Given the description of an element on the screen output the (x, y) to click on. 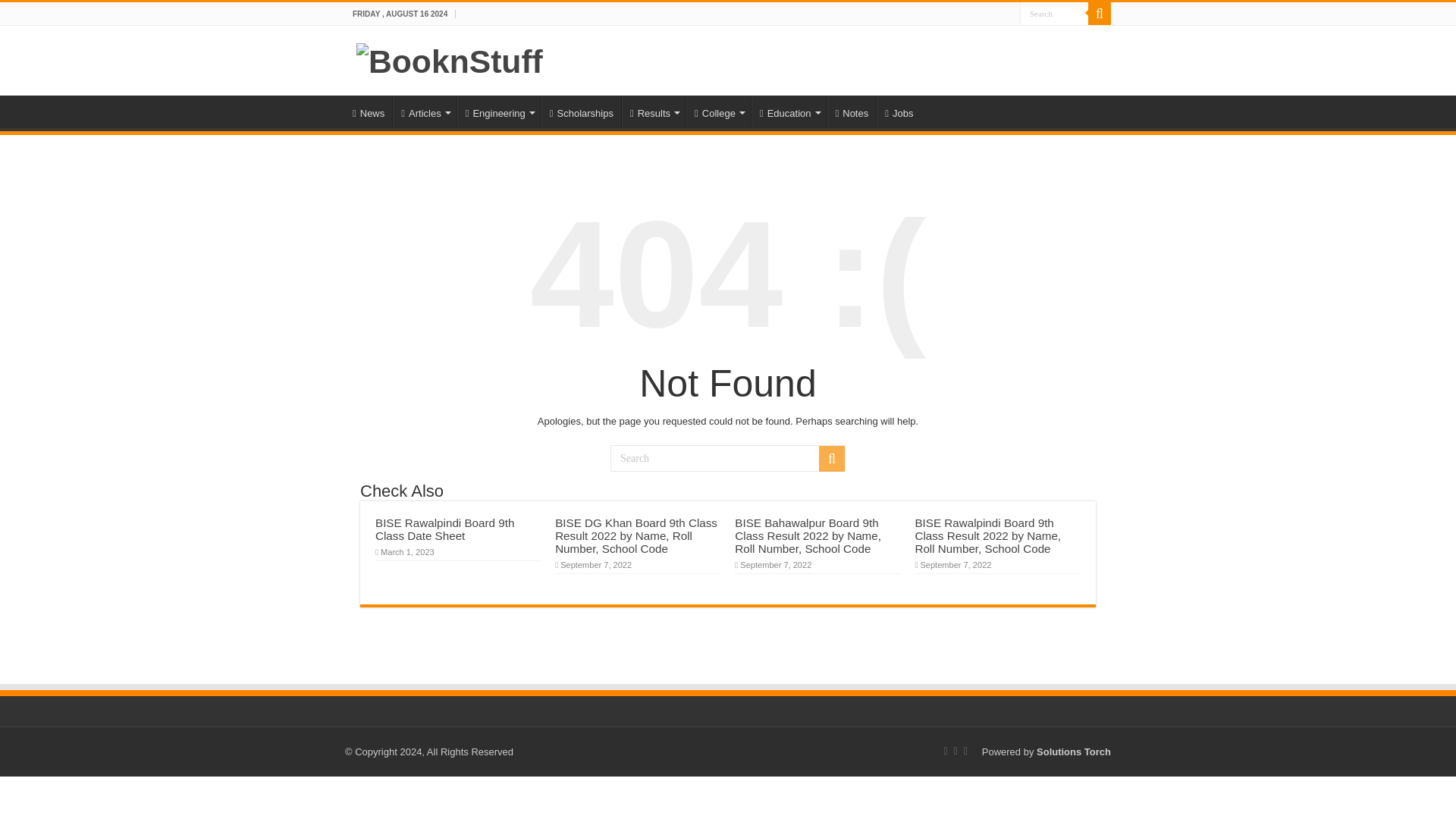
Education (789, 111)
Results, Date Sheet, Admissions, Merit Lists (718, 111)
Guides, Notes and Solution Manuals (851, 111)
Search (831, 458)
Articles (424, 111)
College (718, 111)
Search (1053, 13)
5th and 8th Class Punjab Education Comission (653, 111)
Search (727, 458)
Results (653, 111)
